Given the description of an element on the screen output the (x, y) to click on. 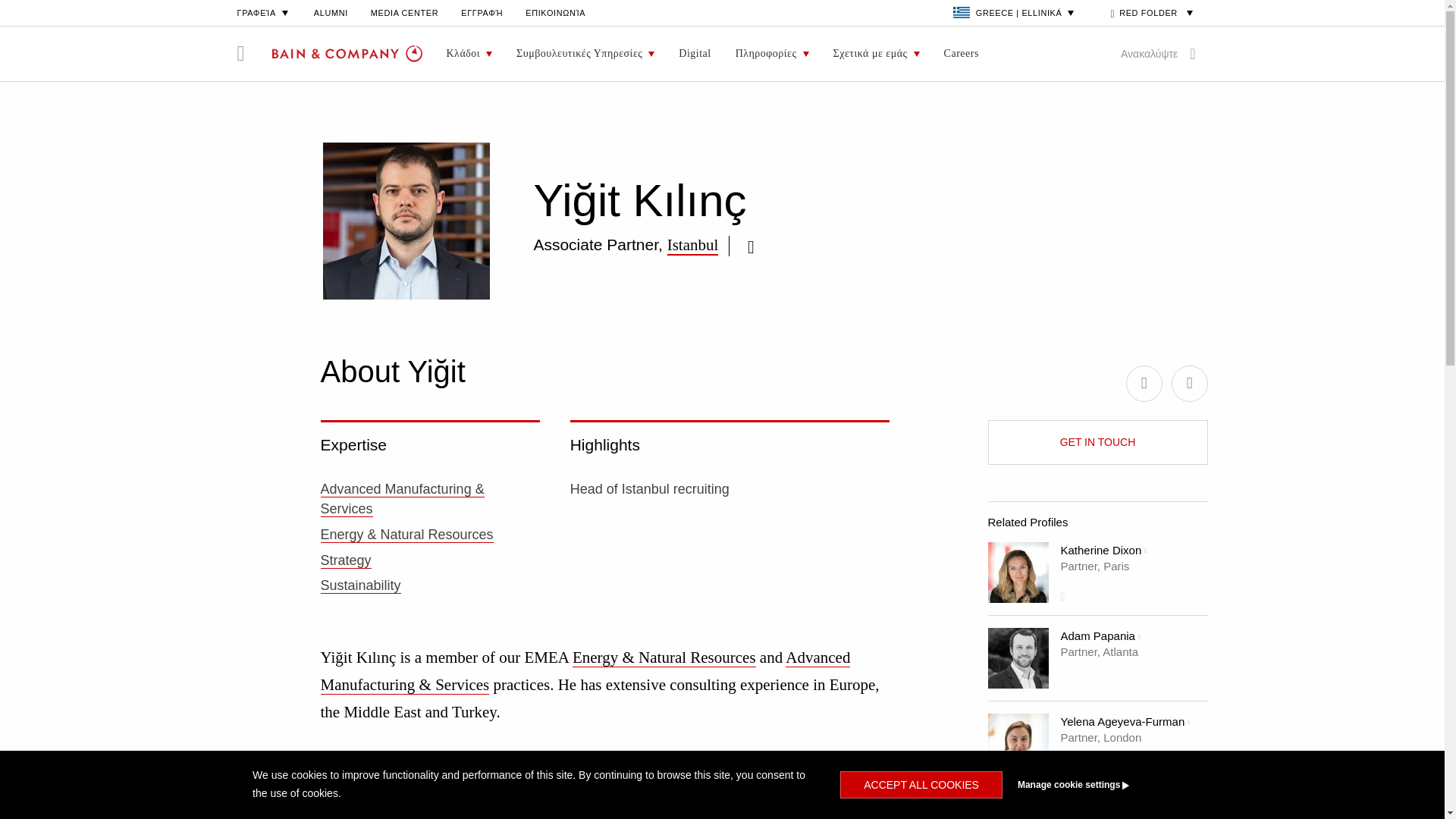
ACCEPT ALL COOKIES (921, 784)
Manage cookie settings (1101, 784)
